Given the description of an element on the screen output the (x, y) to click on. 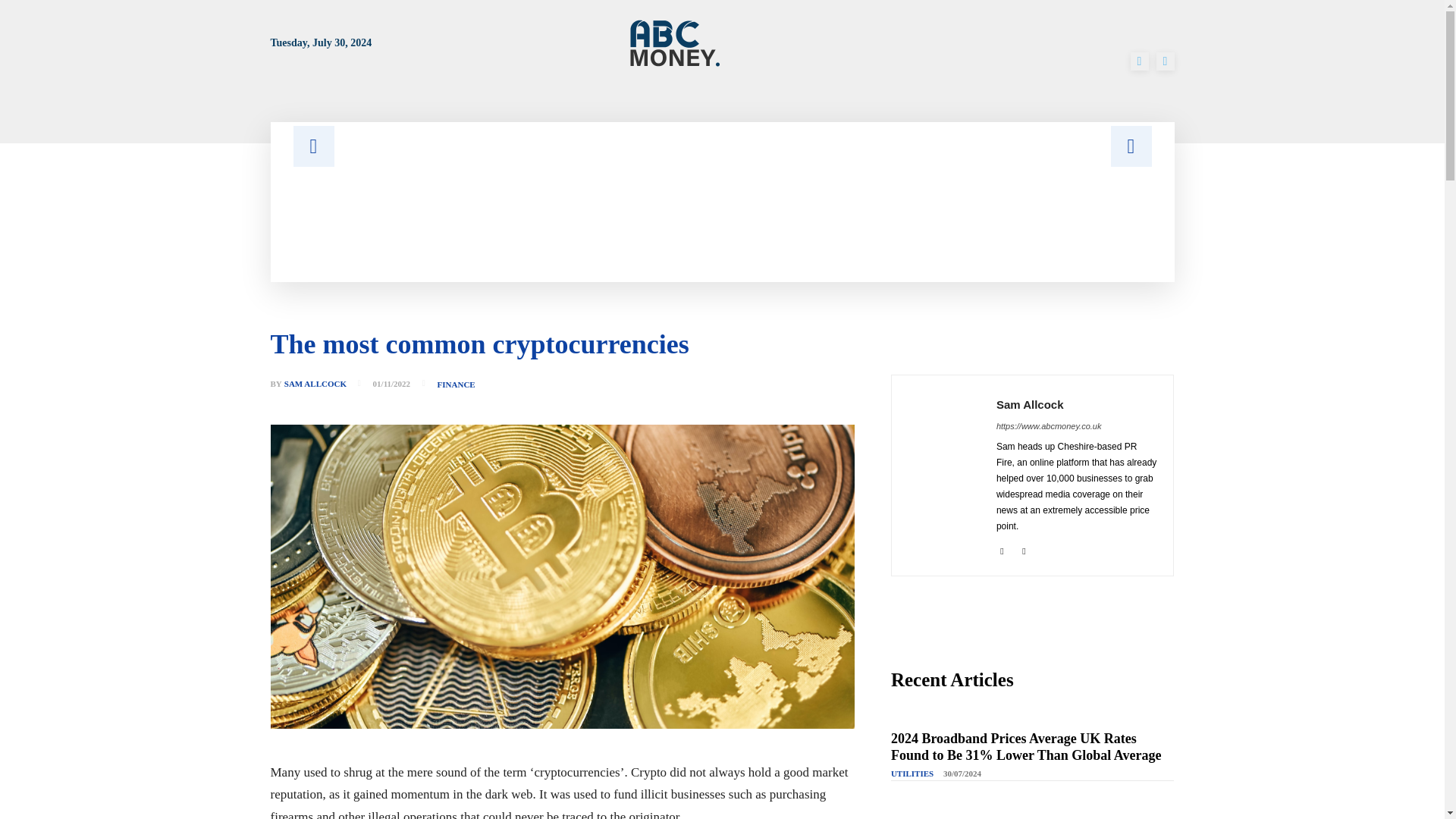
Twitter (1023, 548)
Facebook (1138, 60)
Linkedin (1001, 548)
SAM ALLCOCK (314, 384)
Twitter (1164, 60)
FINANCE (457, 384)
